Given the description of an element on the screen output the (x, y) to click on. 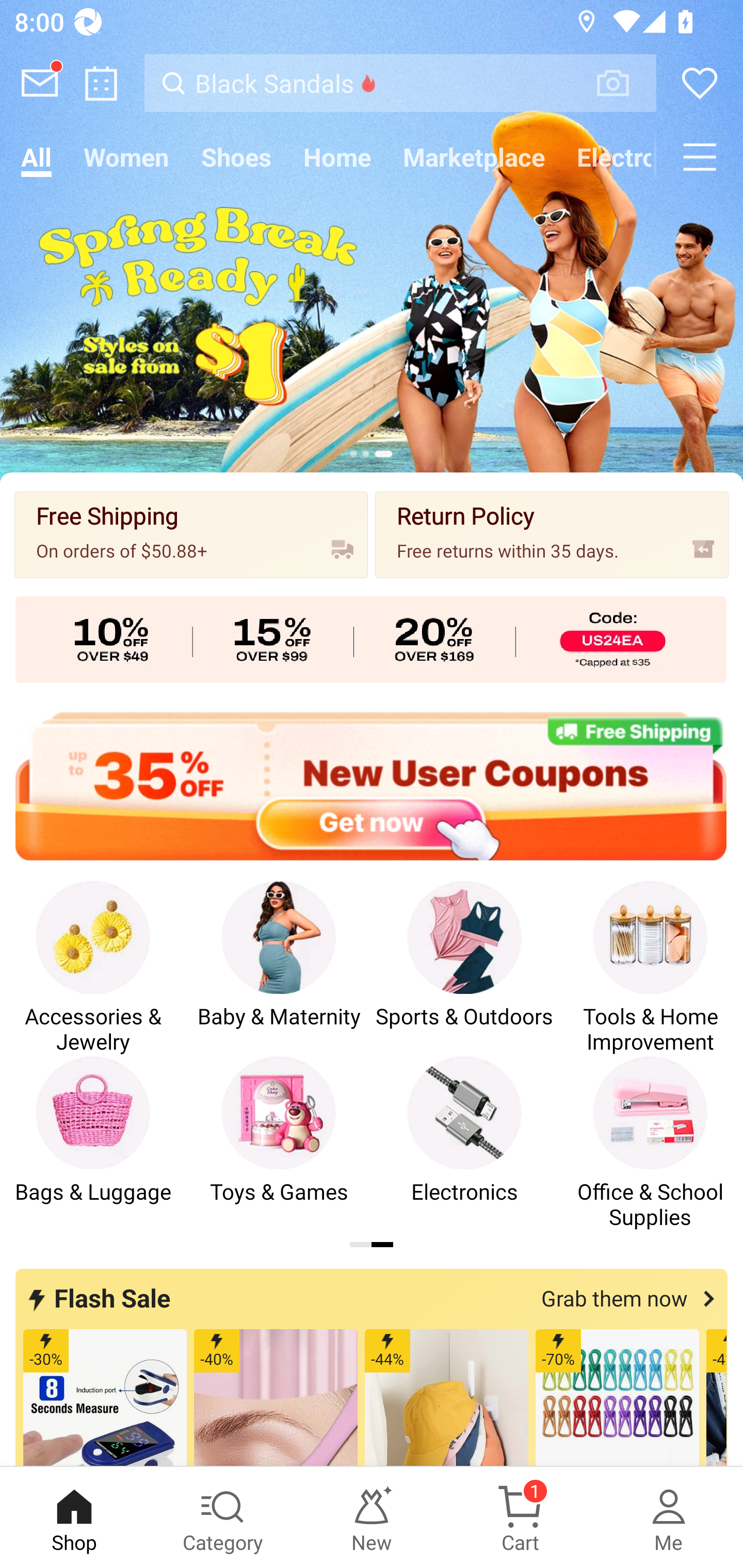
Wishlist (699, 82)
VISUAL SEARCH (623, 82)
All (36, 156)
Women (126, 156)
Shoes (236, 156)
Home (337, 156)
Marketplace (473, 156)
Electronics (608, 156)
Free Shipping On orders of $50.88+ (190, 534)
Return Policy Free returns within 35 days. (551, 534)
Accessories & Jewelry (92, 968)
Baby & Maternity (278, 968)
Sports & Outdoors (464, 968)
Tools & Home Improvement (650, 968)
Bags & Luggage (92, 1142)
Toys & Games (278, 1142)
Electronics (464, 1142)
Office & School Supplies (650, 1142)
Category (222, 1517)
New (371, 1517)
Cart 1 Cart (519, 1517)
Me (668, 1517)
